Given the description of an element on the screen output the (x, y) to click on. 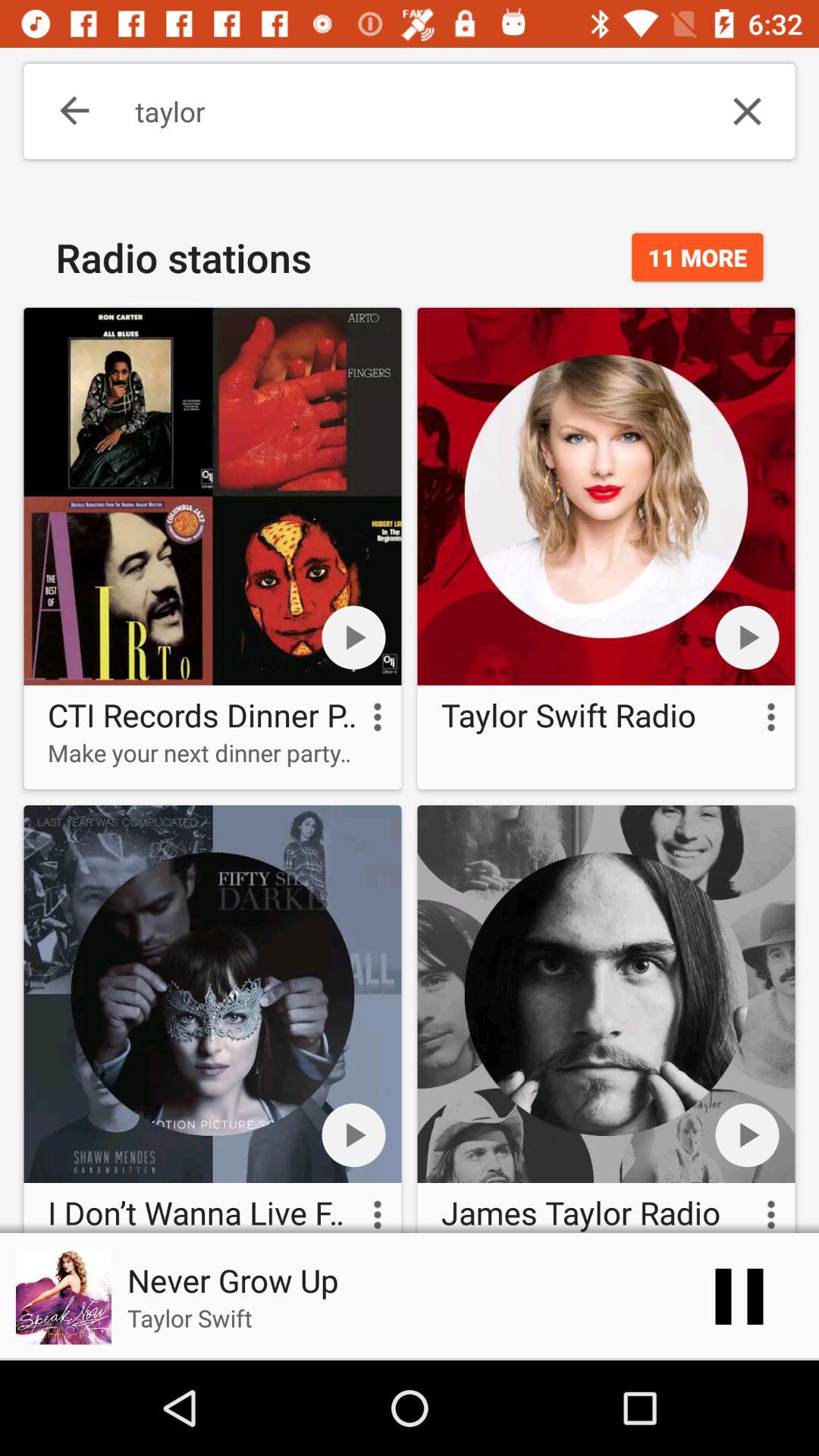
turn on icon next to the taylor (63, 111)
